Given the description of an element on the screen output the (x, y) to click on. 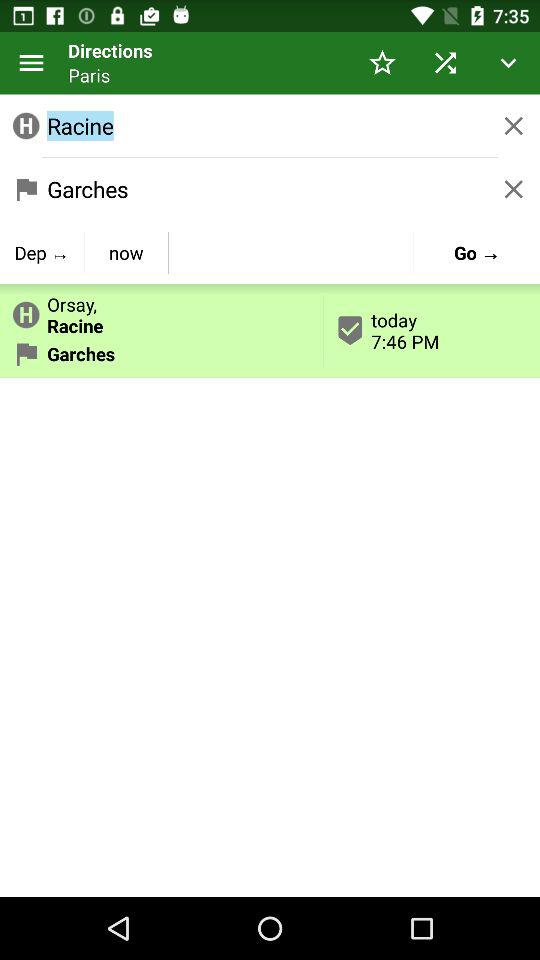
turn off the icon to the left of directions item (31, 62)
